Given the description of an element on the screen output the (x, y) to click on. 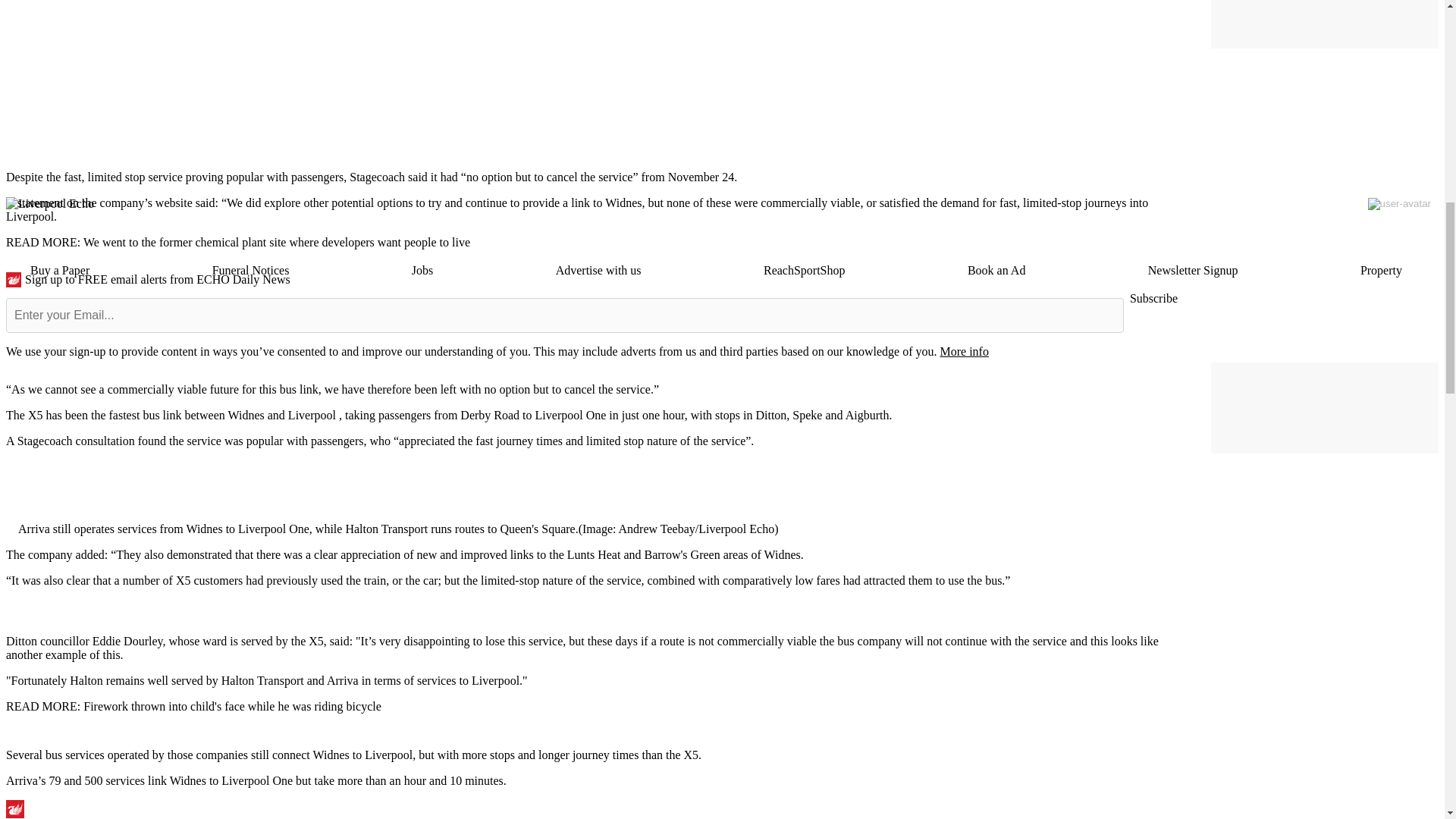
Liverpool (312, 414)
Halton Transport (262, 680)
More info (963, 350)
Ditton (21, 640)
Subscribe (1153, 298)
Arriva (342, 680)
